Given the description of an element on the screen output the (x, y) to click on. 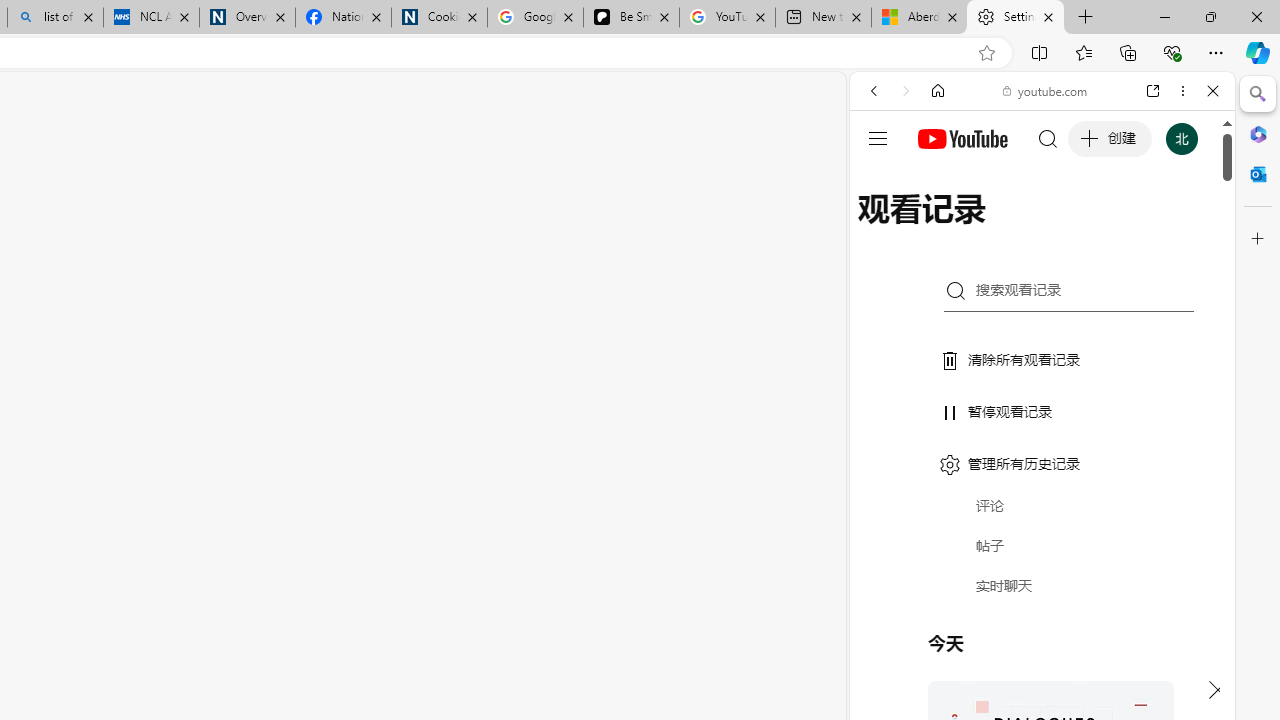
Google (1042, 494)
IMAGES (939, 228)
This site scope (936, 180)
Cookies (439, 17)
Forward (906, 91)
Home (938, 91)
